Given the description of an element on the screen output the (x, y) to click on. 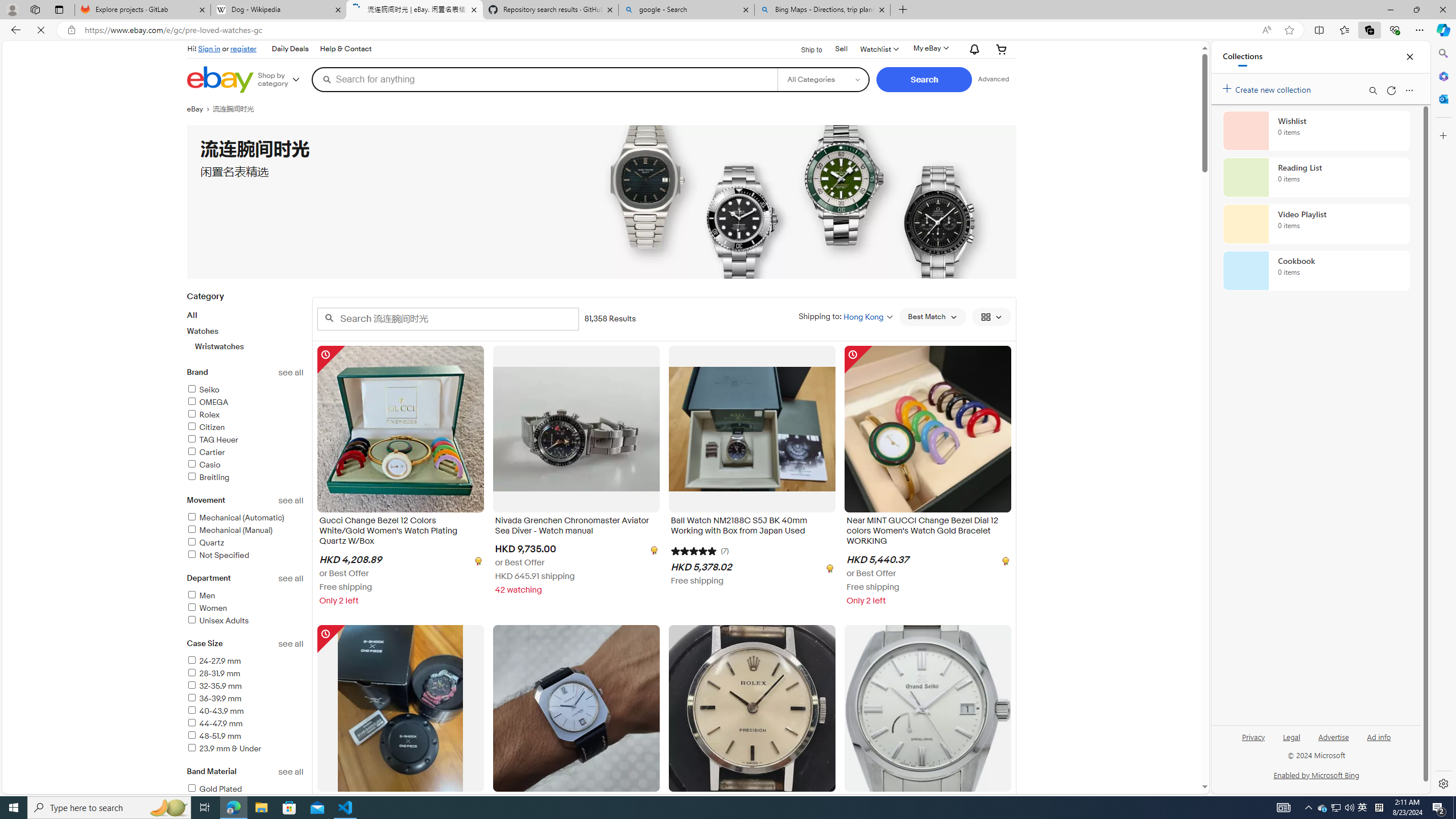
Side bar (1443, 418)
Wishlist collection, 0 items (1316, 130)
Advertise (1333, 736)
Ship to (804, 47)
WatchlistExpand Watch List (878, 48)
register (243, 48)
Daily Deals (289, 49)
Create new collection (1268, 87)
More options menu (1409, 90)
My eBayExpand My eBay (930, 47)
